Given the description of an element on the screen output the (x, y) to click on. 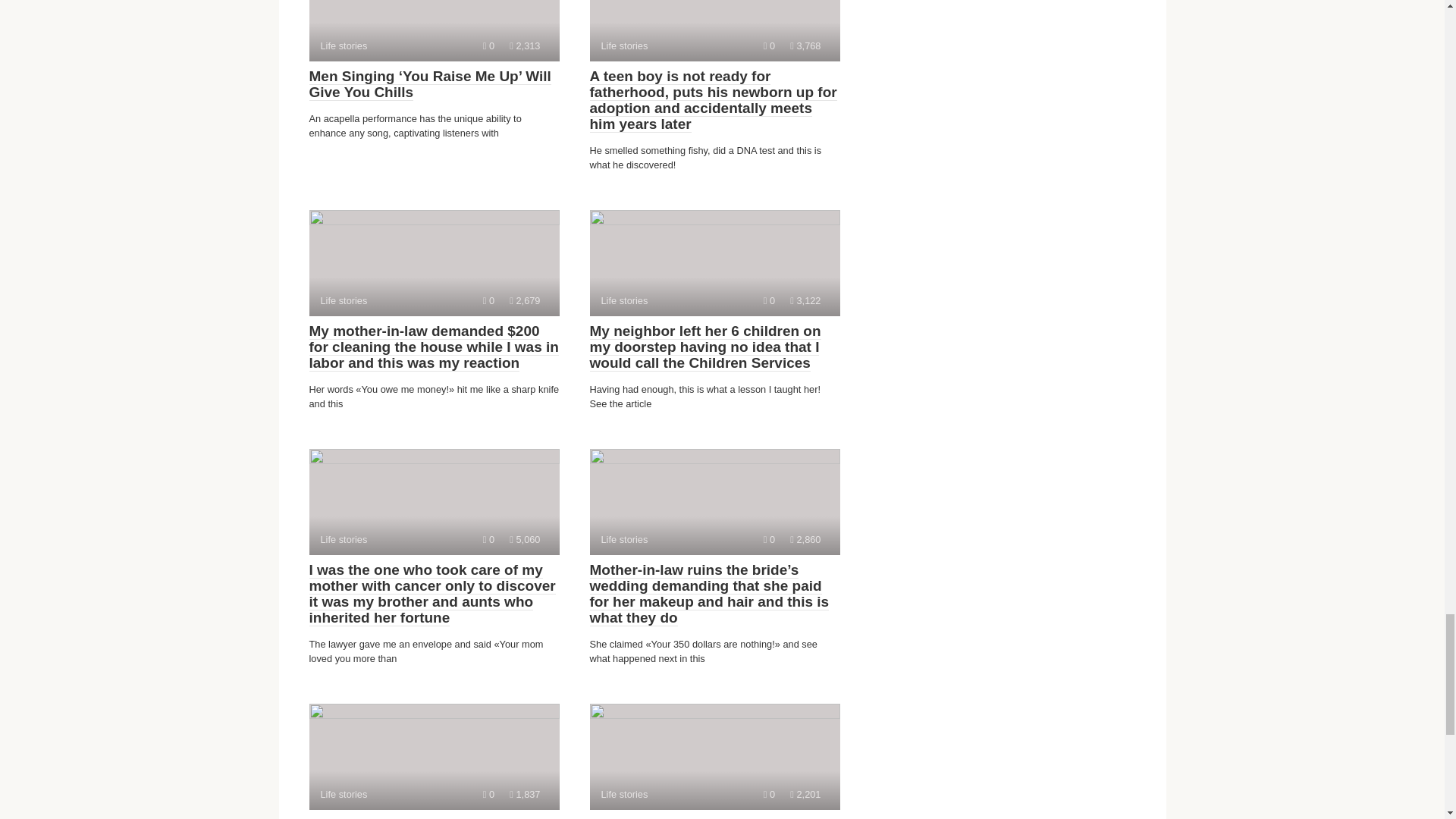
Views (524, 300)
Views (805, 539)
Comments (768, 794)
Views (714, 501)
Views (805, 45)
Comments (714, 30)
Comments (433, 30)
Views (805, 794)
